Given the description of an element on the screen output the (x, y) to click on. 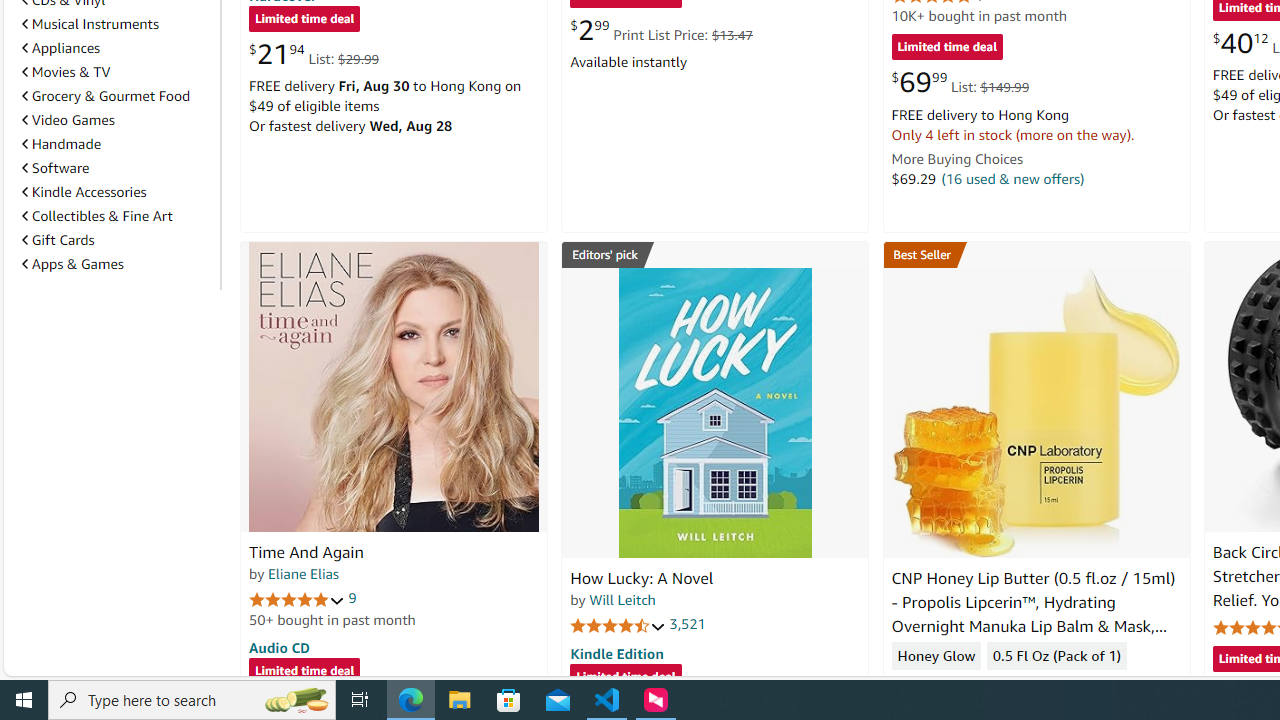
Apps & Games (117, 264)
Video Games (117, 120)
Time And Again (393, 386)
Collectibles & Fine Art (117, 215)
Collectibles & Fine Art (96, 215)
Handmade (61, 143)
Time And Again (306, 552)
Musical Instruments (89, 24)
Apps & Games (72, 263)
Kindle Edition (616, 653)
Grocery & Gourmet Food (117, 95)
Kindle Accessories (117, 192)
Appliances (117, 48)
